Given the description of an element on the screen output the (x, y) to click on. 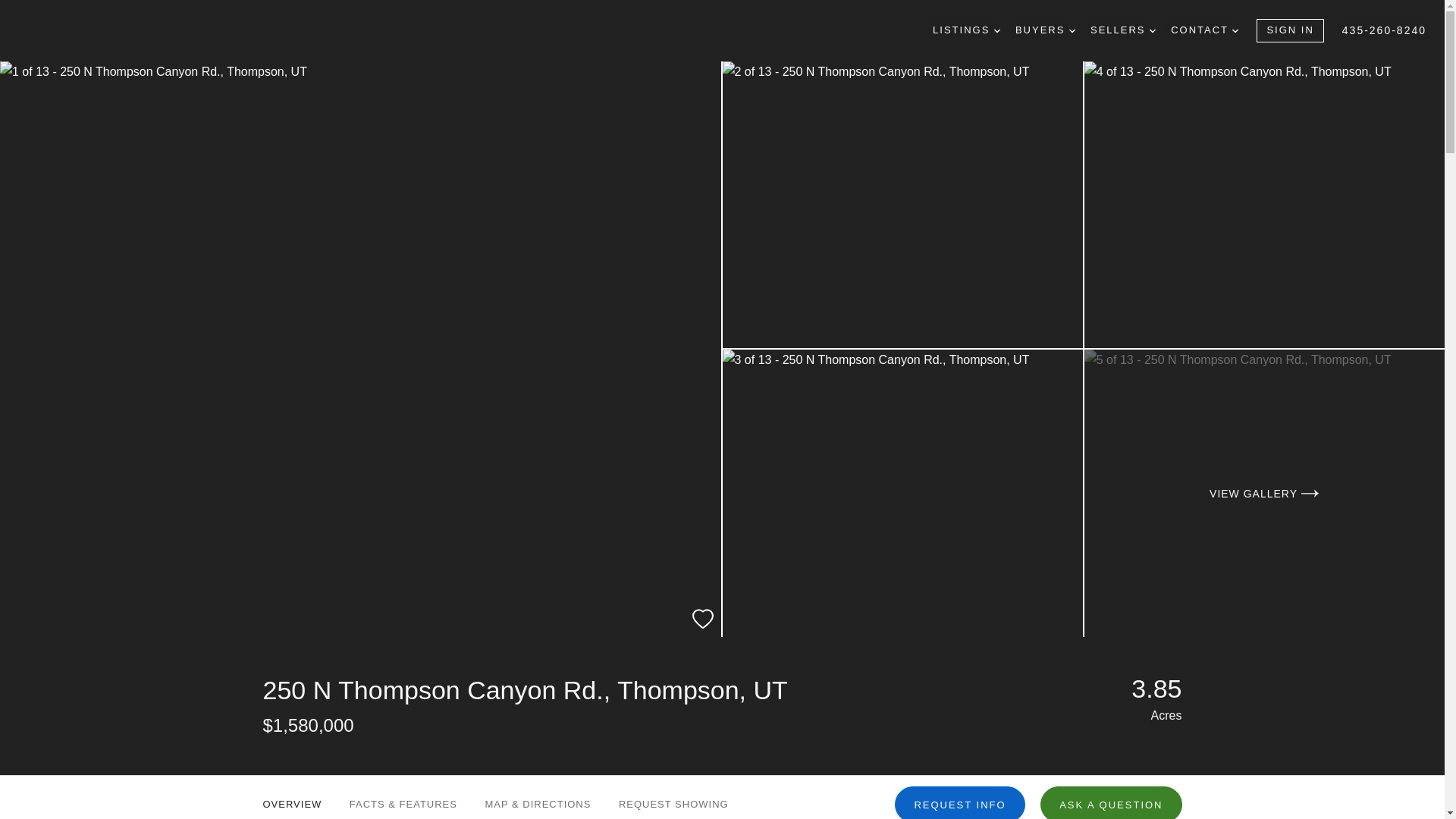
DROPDOWN ARROW (1235, 30)
BUYERS DROPDOWN ARROW (1044, 30)
LISTINGS DROPDOWN ARROW (966, 30)
SIGN IN (1289, 30)
CONTACT DROPDOWN ARROW (1204, 30)
DROPDOWN ARROW (997, 30)
DROPDOWN ARROW (1071, 30)
SELLERS DROPDOWN ARROW (1123, 30)
DROPDOWN ARROW (1153, 30)
